Given the description of an element on the screen output the (x, y) to click on. 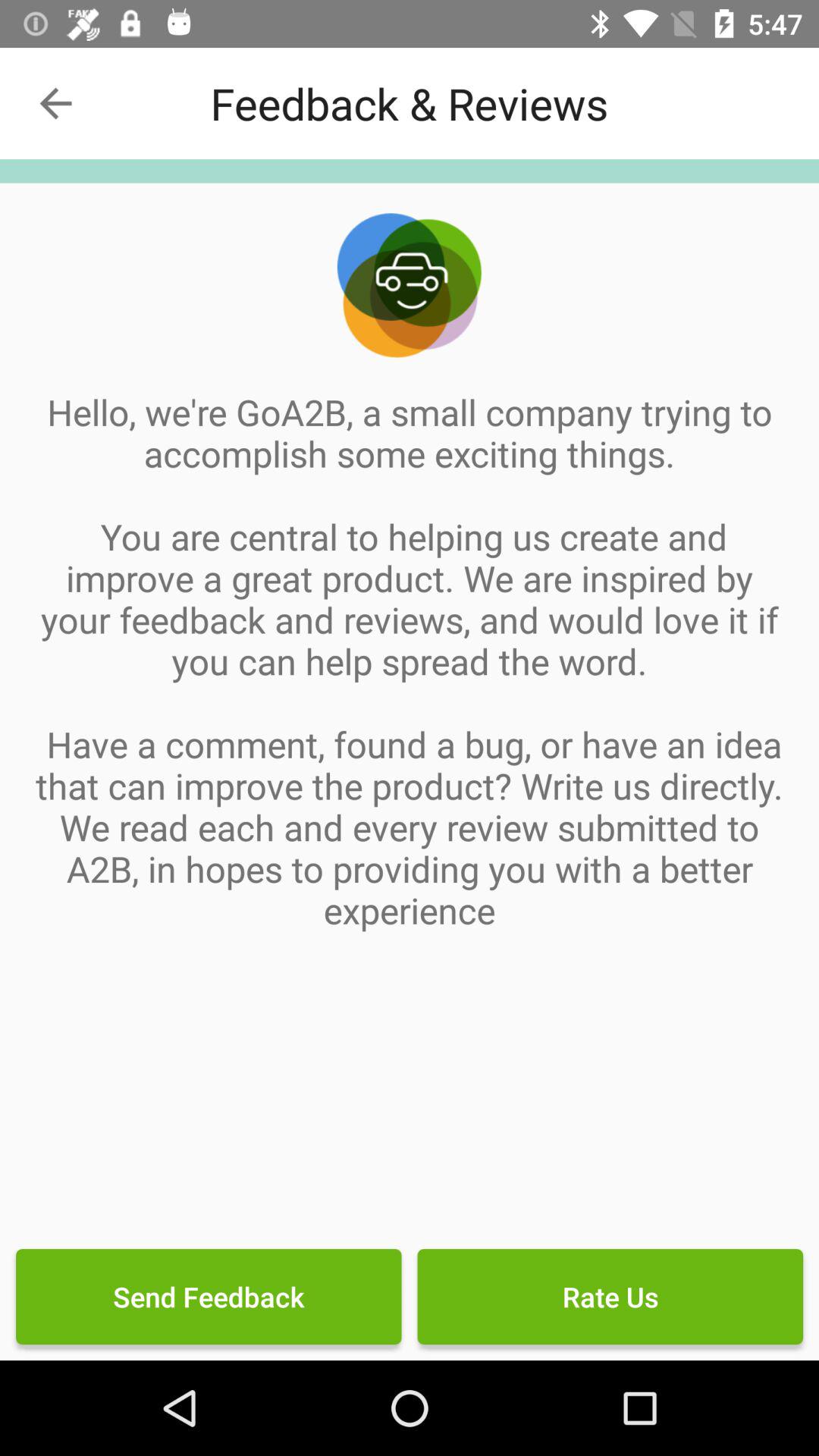
choose item next to the rate us item (208, 1296)
